Given the description of an element on the screen output the (x, y) to click on. 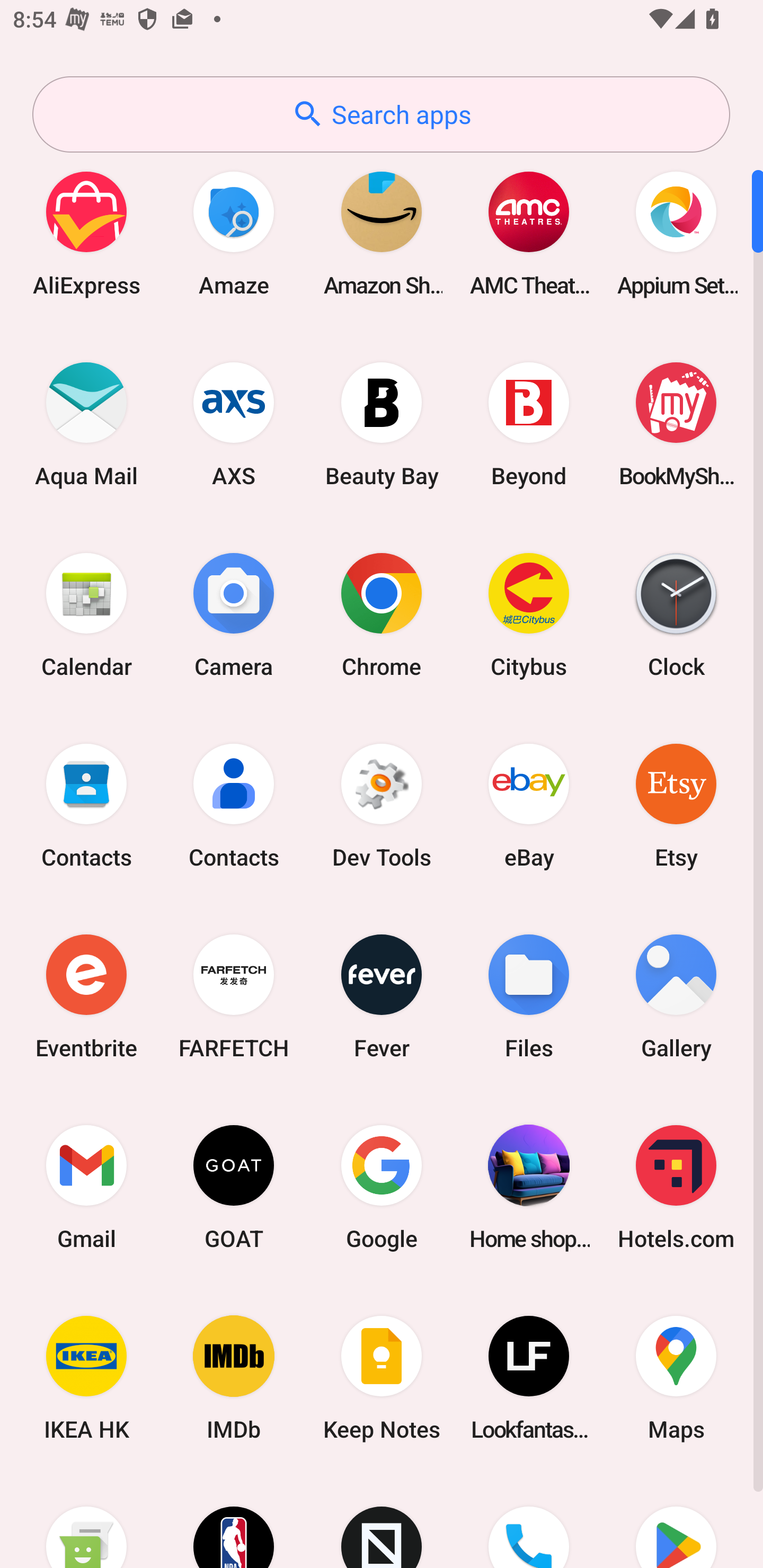
  Search apps (381, 114)
AliExpress (86, 233)
Amaze (233, 233)
Amazon Shopping (381, 233)
AMC Theatres (528, 233)
Appium Settings (676, 233)
Aqua Mail (86, 424)
AXS (233, 424)
Beauty Bay (381, 424)
Beyond (528, 424)
BookMyShow (676, 424)
Calendar (86, 614)
Camera (233, 614)
Chrome (381, 614)
Citybus (528, 614)
Clock (676, 614)
Contacts (86, 805)
Contacts (233, 805)
Dev Tools (381, 805)
eBay (528, 805)
Etsy (676, 805)
Eventbrite (86, 996)
FARFETCH (233, 996)
Fever (381, 996)
Files (528, 996)
Gallery (676, 996)
Gmail (86, 1186)
GOAT (233, 1186)
Google (381, 1186)
Home shopping (528, 1186)
Hotels.com (676, 1186)
IKEA HK (86, 1377)
IMDb (233, 1377)
Keep Notes (381, 1377)
Lookfantastic (528, 1377)
Maps (676, 1377)
Messaging (86, 1520)
NBA (233, 1520)
Novelship (381, 1520)
Phone (528, 1520)
Play Store (676, 1520)
